Given the description of an element on the screen output the (x, y) to click on. 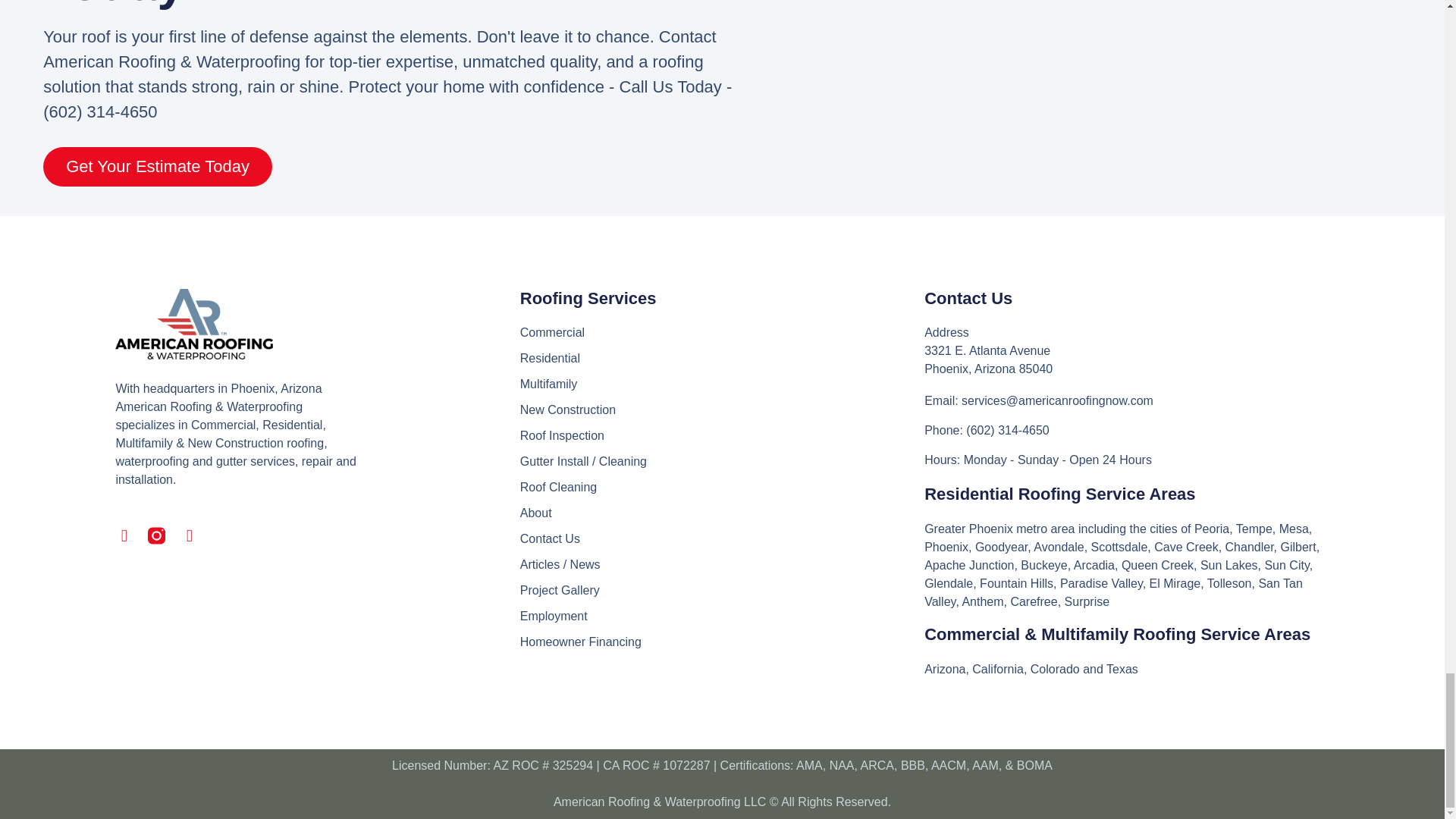
New Construction (721, 410)
Multifamily (721, 384)
Residential (721, 358)
Roof Inspection (721, 435)
Commercial (721, 332)
About (721, 513)
Roof Cleaning (721, 487)
Contact Us (721, 538)
Project Gallery (721, 590)
